Given the description of an element on the screen output the (x, y) to click on. 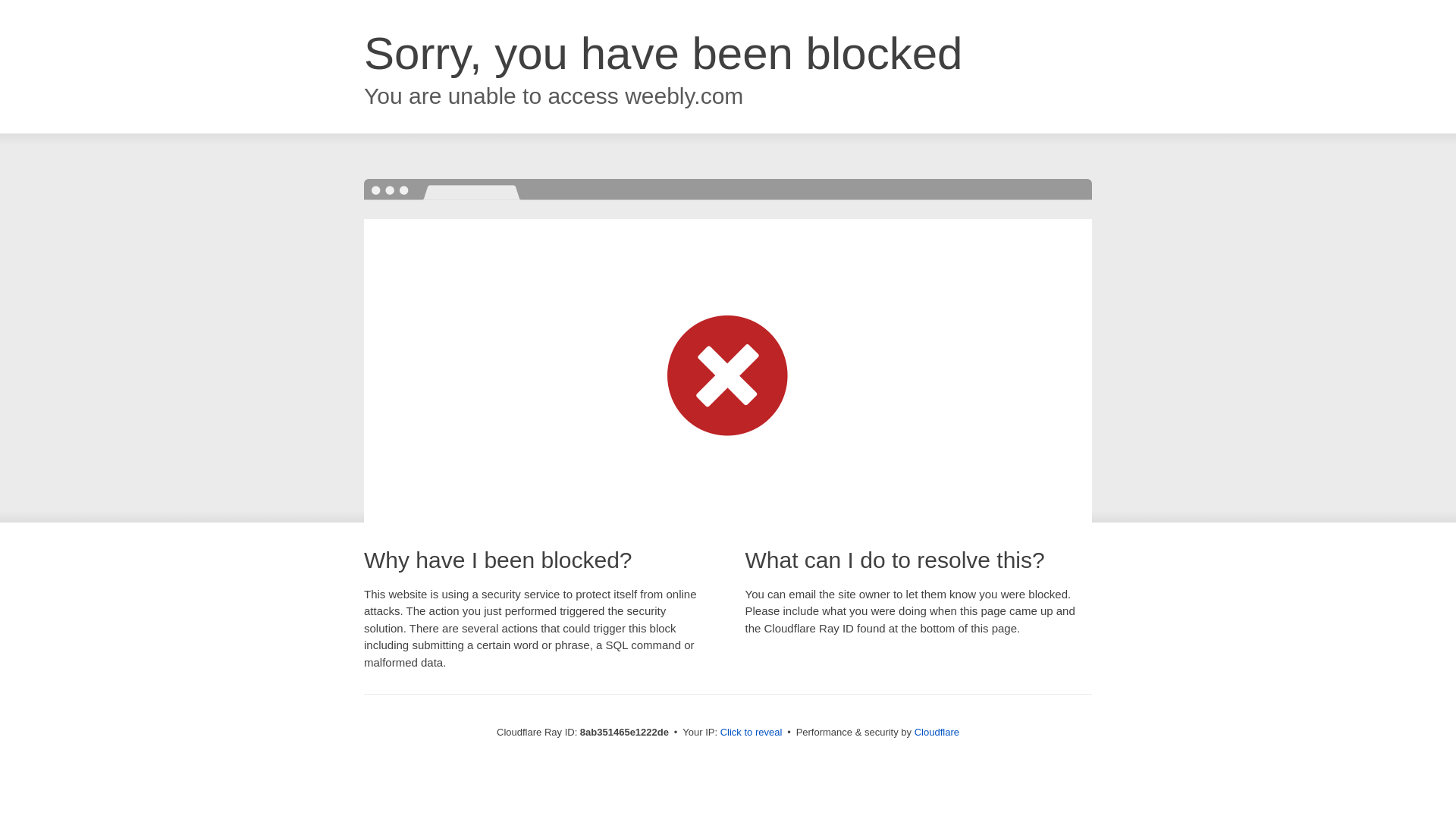
Click to reveal (751, 732)
Cloudflare (936, 731)
